Given the description of an element on the screen output the (x, y) to click on. 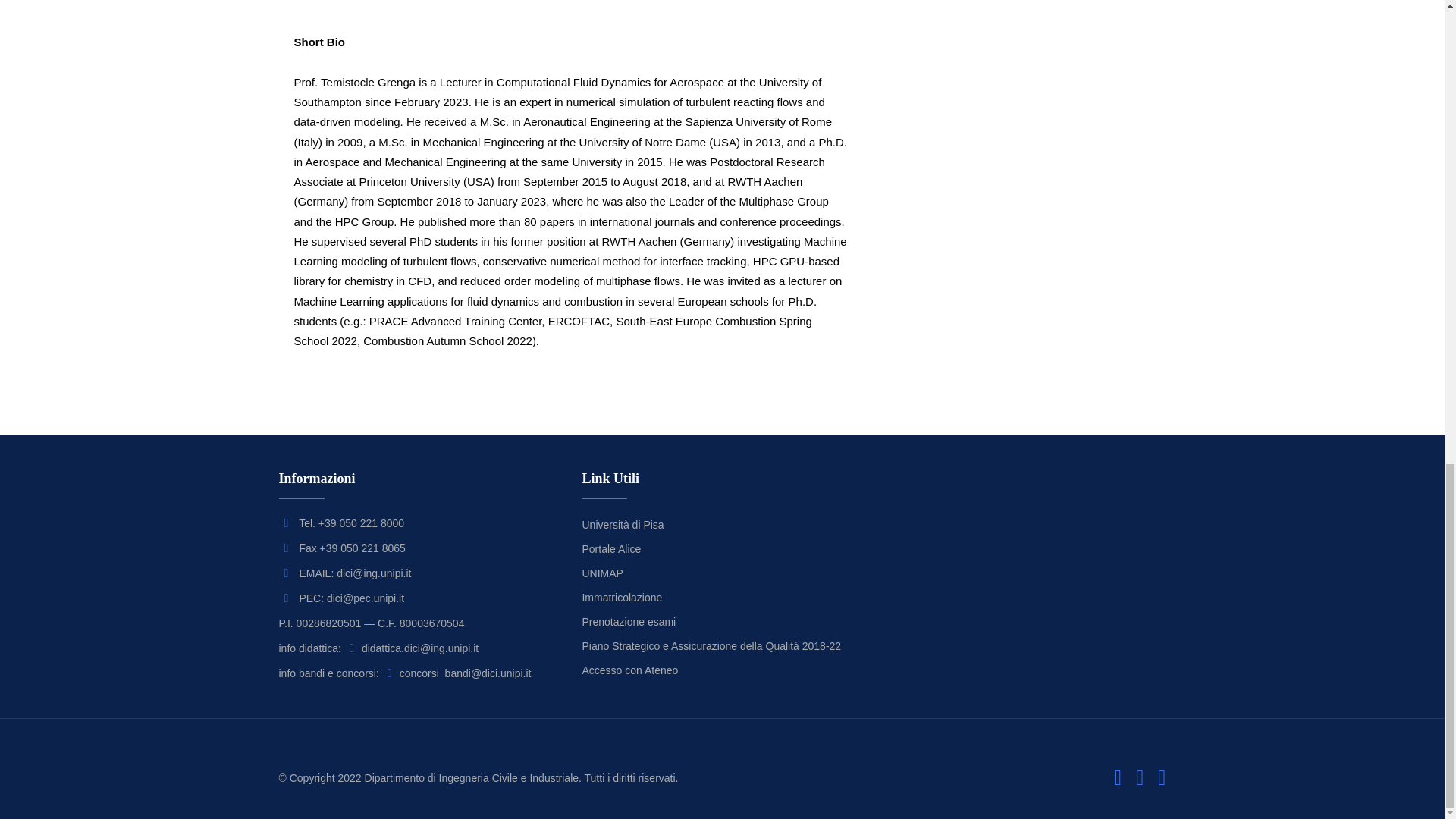
Portale Alice (610, 548)
